Given the description of an element on the screen output the (x, y) to click on. 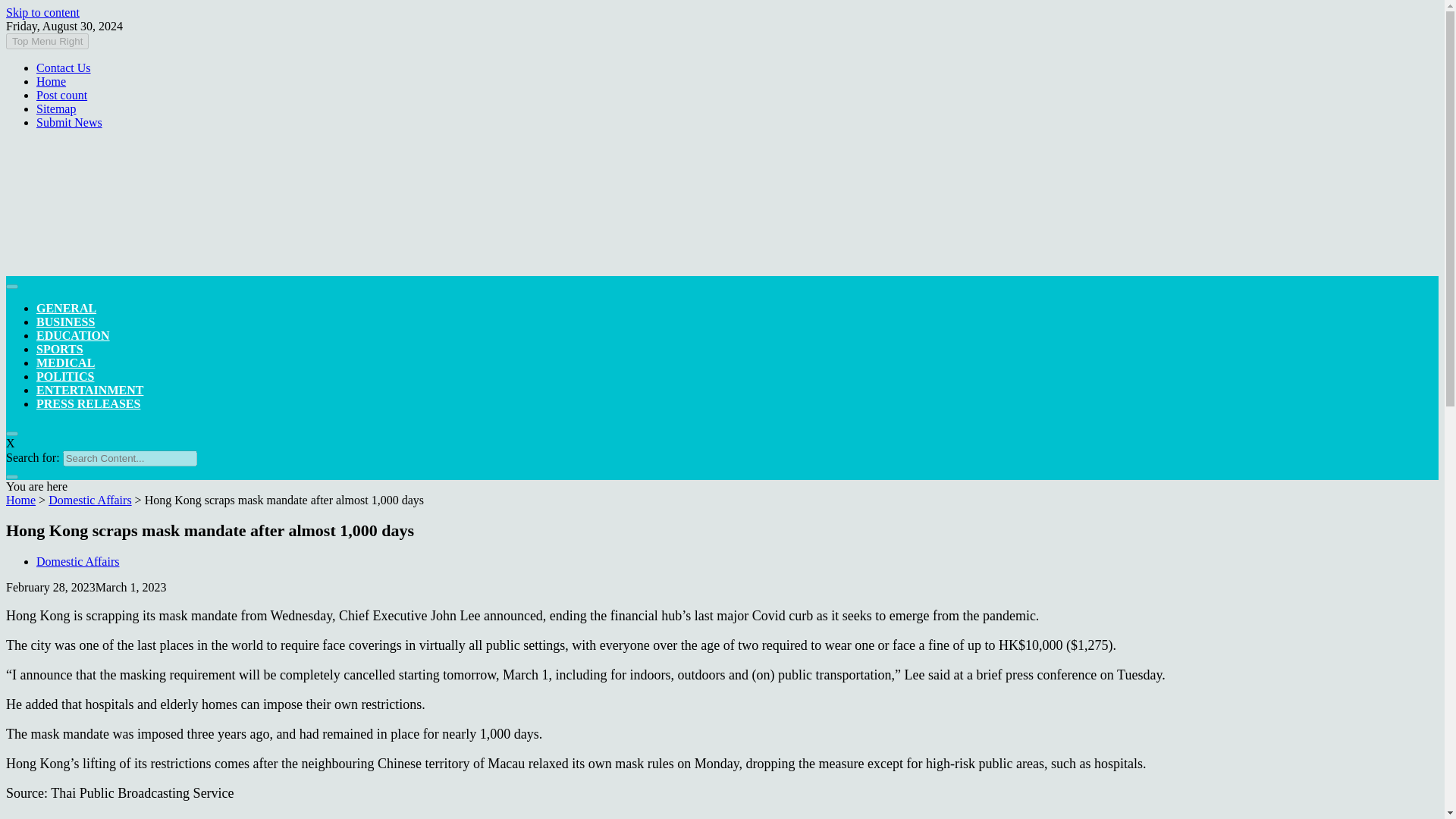
Domestic Affairs (89, 499)
Submit News (68, 122)
Skip to content (42, 11)
PRESS RELEASES (87, 403)
Home (50, 81)
Domestic Affairs (77, 561)
Home (19, 499)
GENERAL (66, 308)
SPORTS (59, 349)
POLITICS (65, 376)
